Given the description of an element on the screen output the (x, y) to click on. 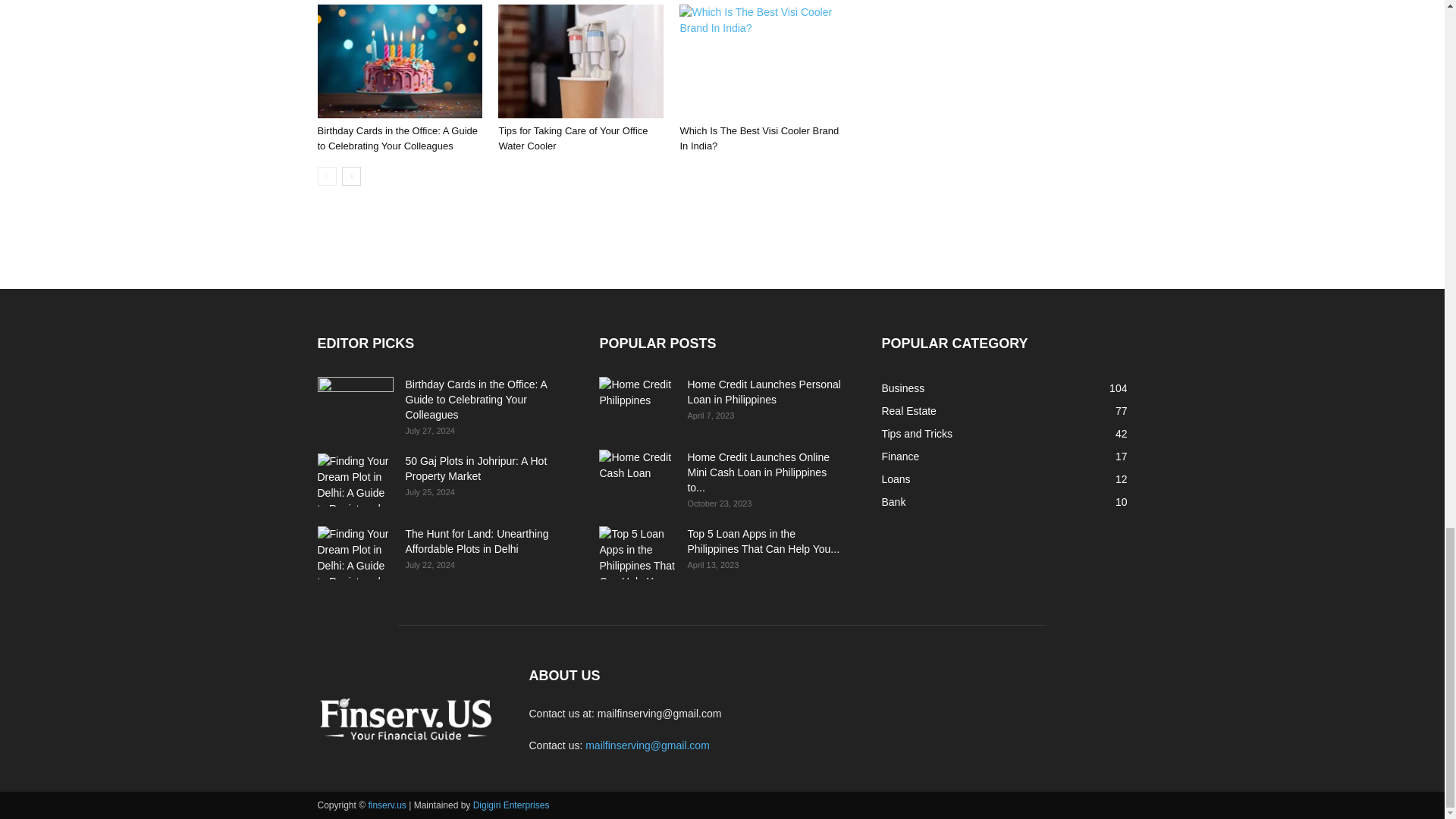
Which Is The Best Visi Cooler Brand In India? (761, 60)
Tips for Taking Care of Your Office Water Cooler (580, 60)
Tips for Taking Care of Your Office Water Cooler (572, 138)
Which Is The Best Visi Cooler Brand In India? (758, 138)
Which Is The Best Visi Cooler Brand In India? (758, 138)
Tips for Taking Care of Your Office Water Cooler (572, 138)
